Given the description of an element on the screen output the (x, y) to click on. 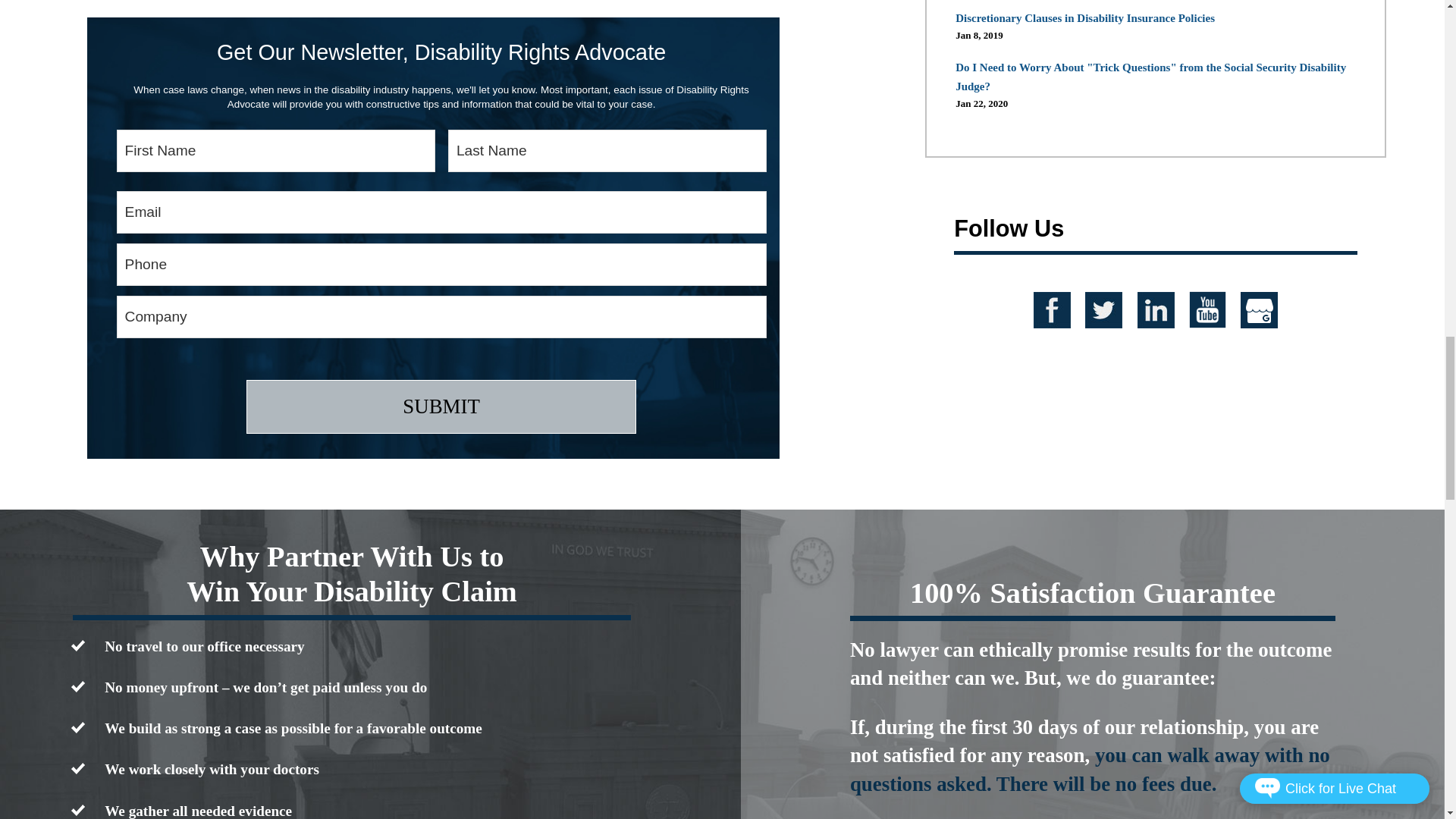
Submit (441, 407)
